Given the description of an element on the screen output the (x, y) to click on. 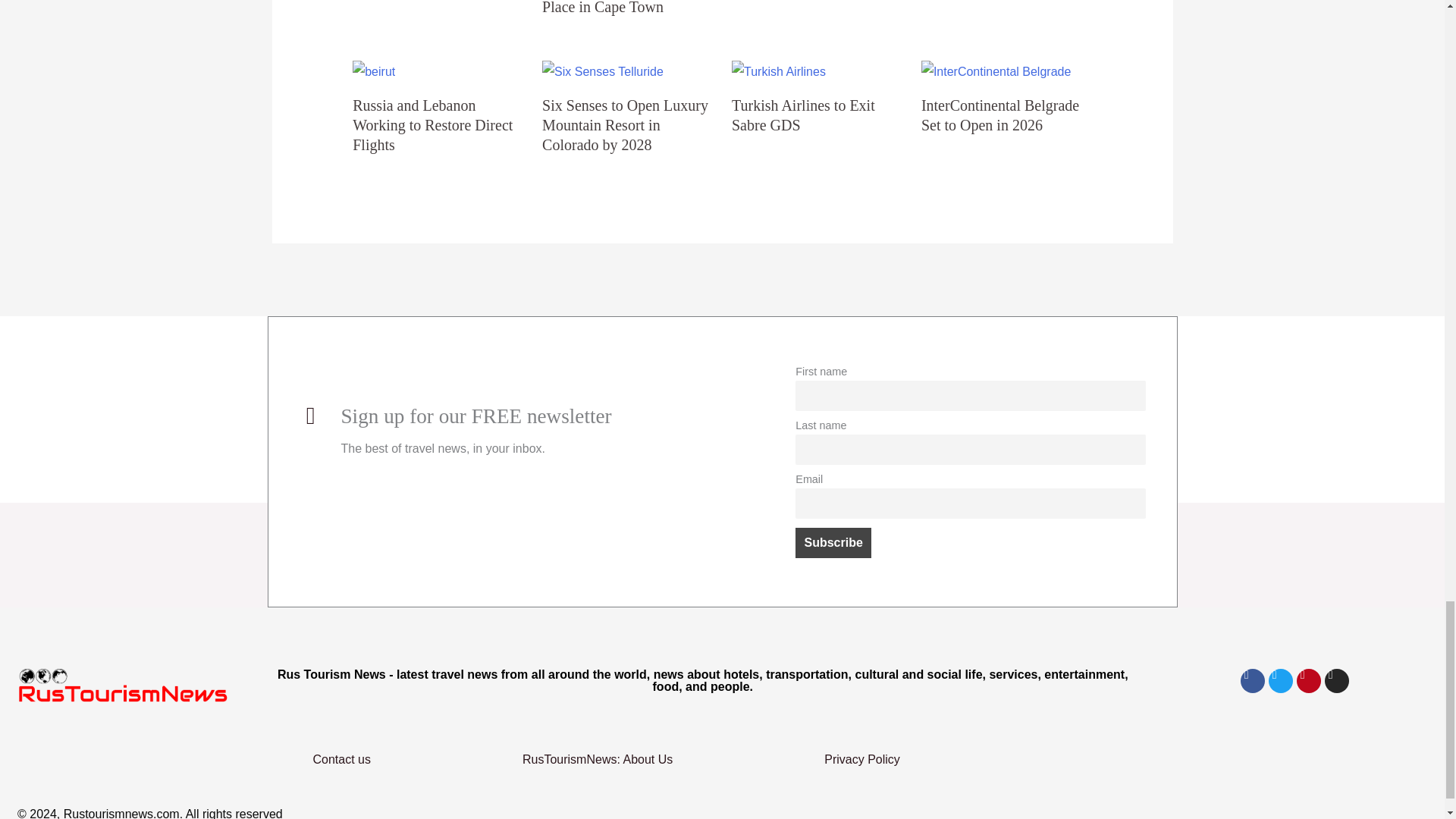
Turkish Airlines to Exit Sabre GDS 11 (778, 71)
Subscribe (832, 542)
InterContinental Belgrade Set to Open in 2026 12 (995, 71)
Russia and Lebanon Working to Restore Direct Flights 9 (373, 71)
